Given the description of an element on the screen output the (x, y) to click on. 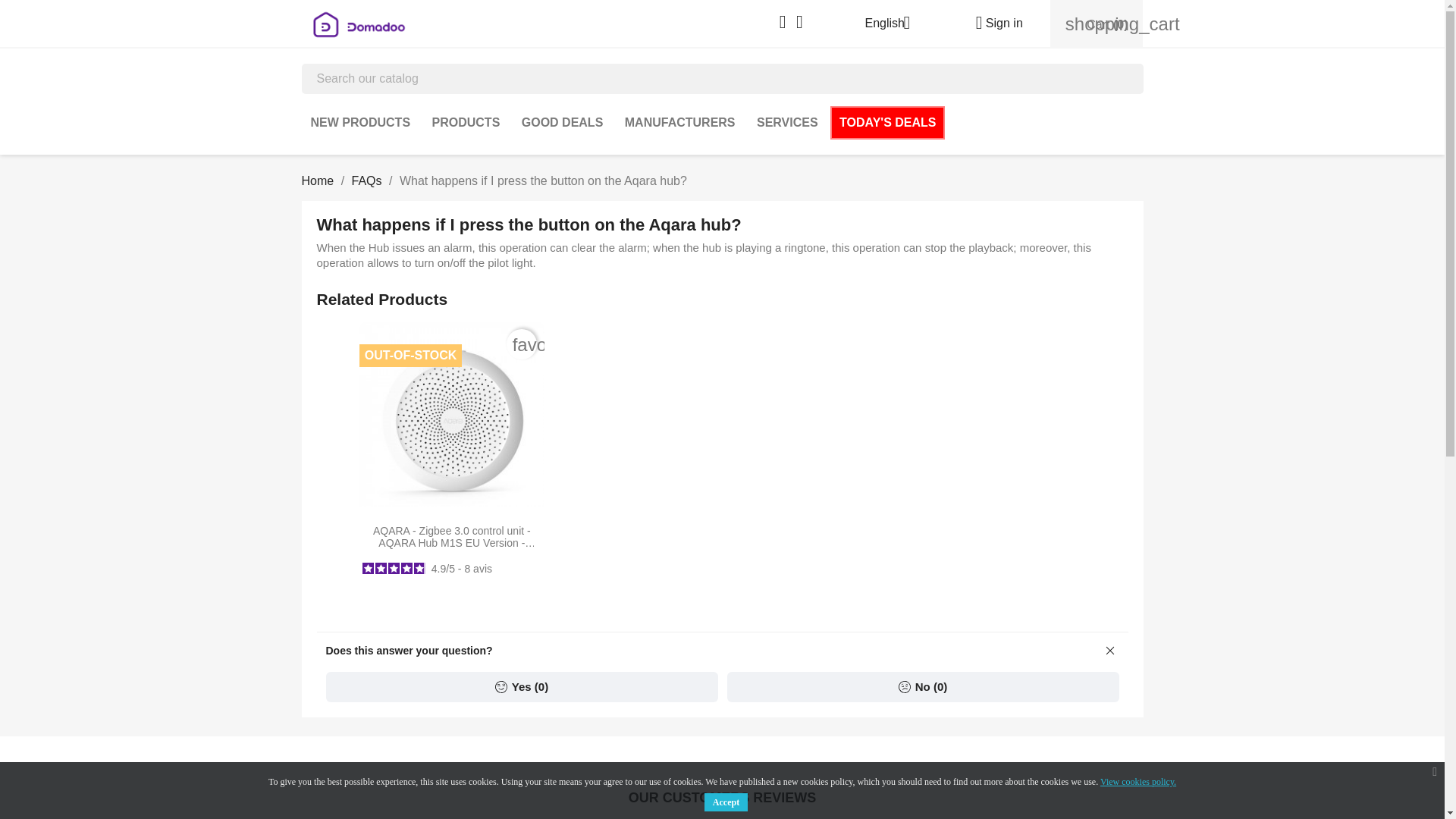
PRODUCTS (466, 122)
Log in to your customer account (992, 22)
NEW PRODUCTS (360, 122)
